Given the description of an element on the screen output the (x, y) to click on. 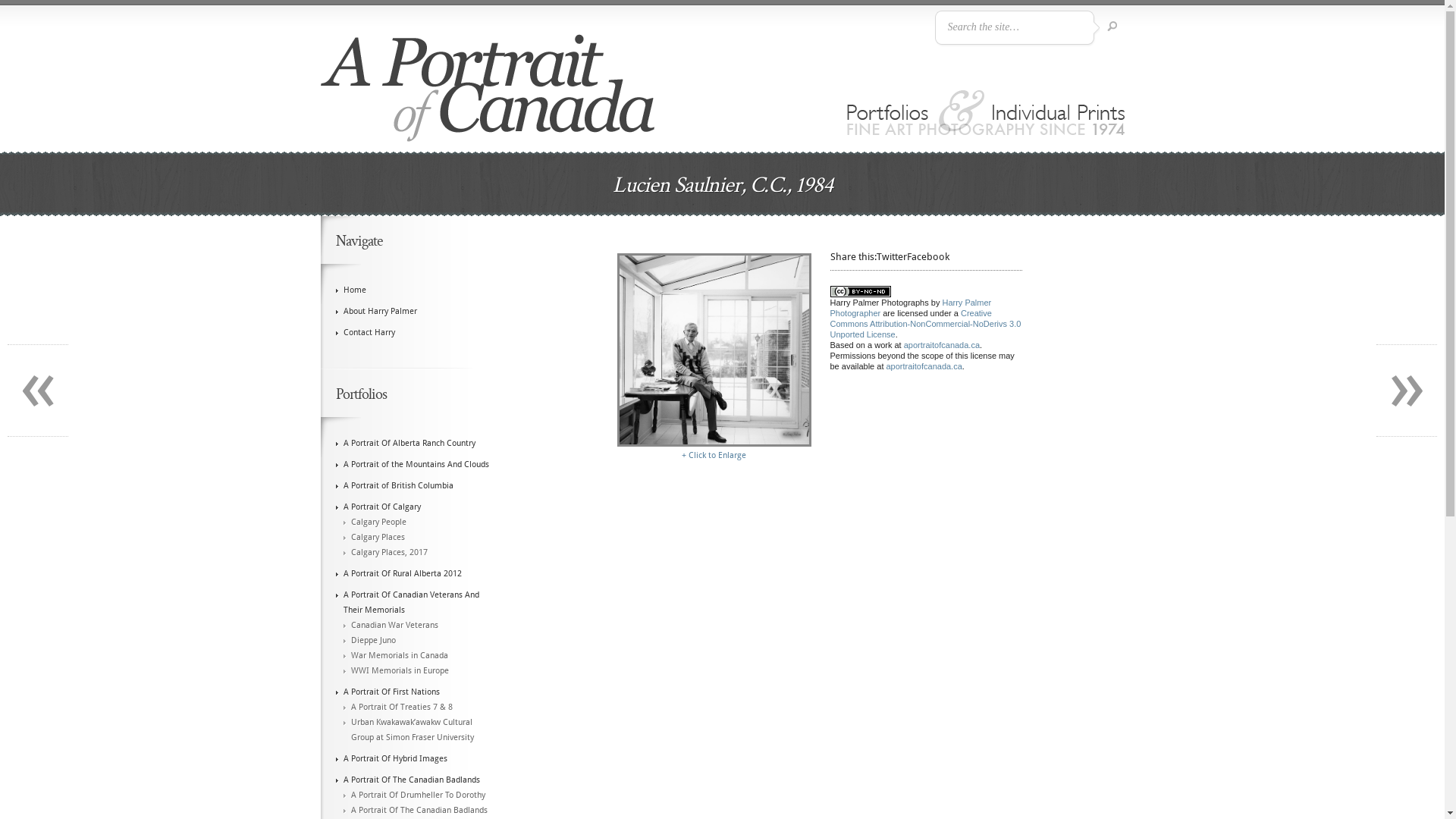
A Portrait Of Drumheller To Dorothy Element type: text (417, 795)
Calgary Places Element type: text (377, 537)
War Memorials in Canada Element type: text (398, 655)
A Portrait Of Calgary Element type: text (381, 506)
A Portrait of British Columbia Element type: text (397, 485)
Home Element type: text (353, 289)
A Portrait Of The Canadian Badlands Element type: text (410, 779)
About Harry Palmer Element type: text (379, 311)
WWI Memorials in Europe Element type: text (399, 670)
Calgary Places, 2017 Element type: text (388, 552)
Calgary People Element type: text (377, 522)
Canadian War Veterans Element type: text (393, 625)
A Portrait Of Canadian Veterans And Their Memorials Element type: text (410, 602)
A Portrait Of Alberta Ranch Country Element type: text (408, 443)
aportraitofcanada.ca Element type: text (941, 343)
A Portrait Of Treaties 7 & 8 Element type: text (400, 707)
Contact Harry Element type: text (368, 332)
A Portrait of the Mountains And Clouds Element type: text (415, 464)
+ Click to Enlarge Element type: text (713, 455)
A Portrait Of Rural Alberta 2012 Element type: text (401, 573)
Harry Palmer Photographer Element type: text (910, 306)
Lucien Saulnier, C.C., 1984 Element type: hover (714, 442)
A Portrait Of First Nations Element type: text (390, 691)
A Portrait Of Hybrid Images Element type: text (394, 758)
aportraitofcanada.ca Element type: text (923, 365)
Dieppe Juno Element type: text (372, 640)
